Given the description of an element on the screen output the (x, y) to click on. 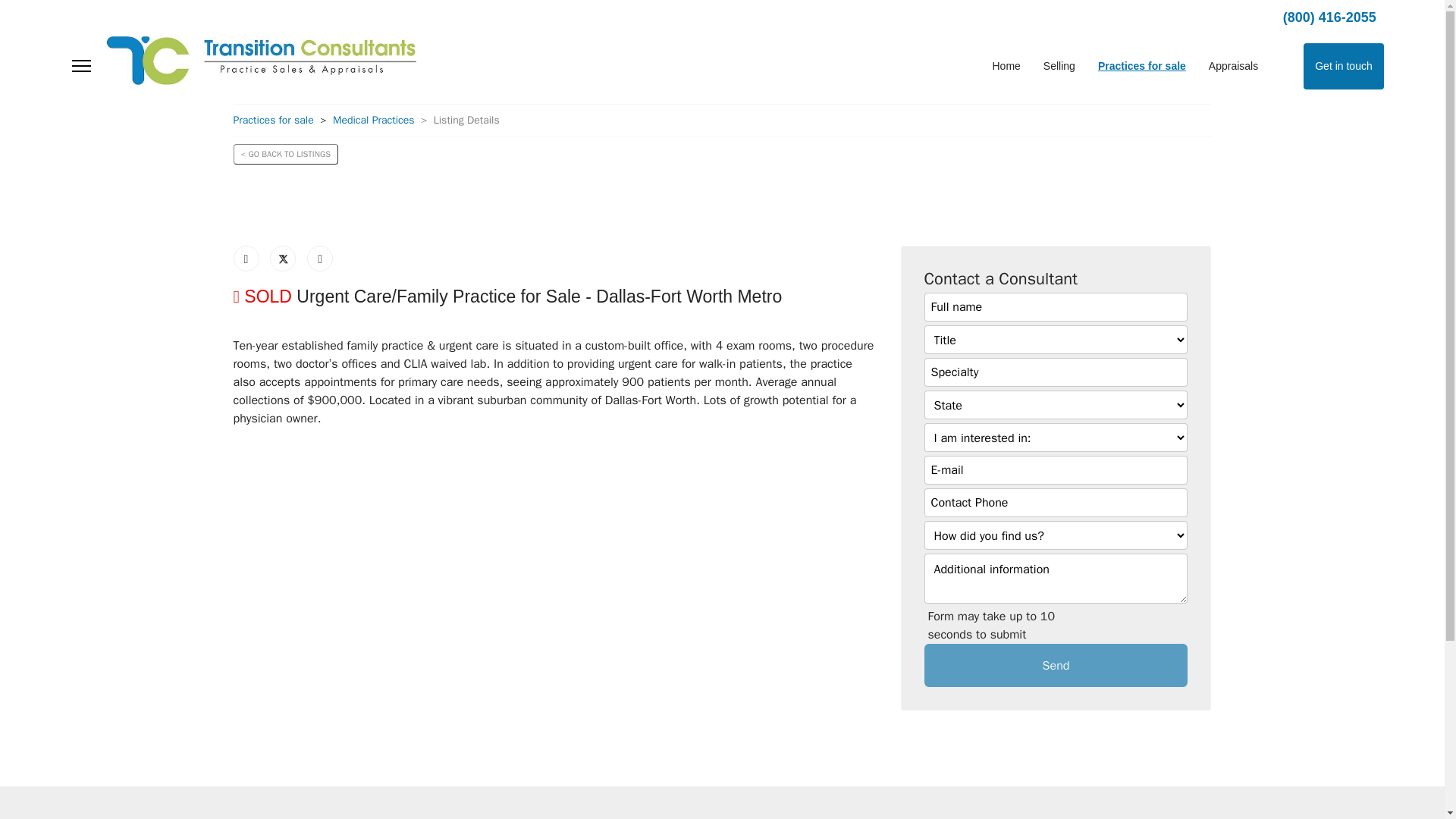
Practices for sale (273, 119)
Appraisals (1232, 66)
Send (1055, 665)
Selling (1059, 66)
Get in touch (1343, 66)
Facebook (245, 258)
Medical Practices (373, 119)
LinkedIn (320, 258)
Practices for sale (1141, 66)
